Given the description of an element on the screen output the (x, y) to click on. 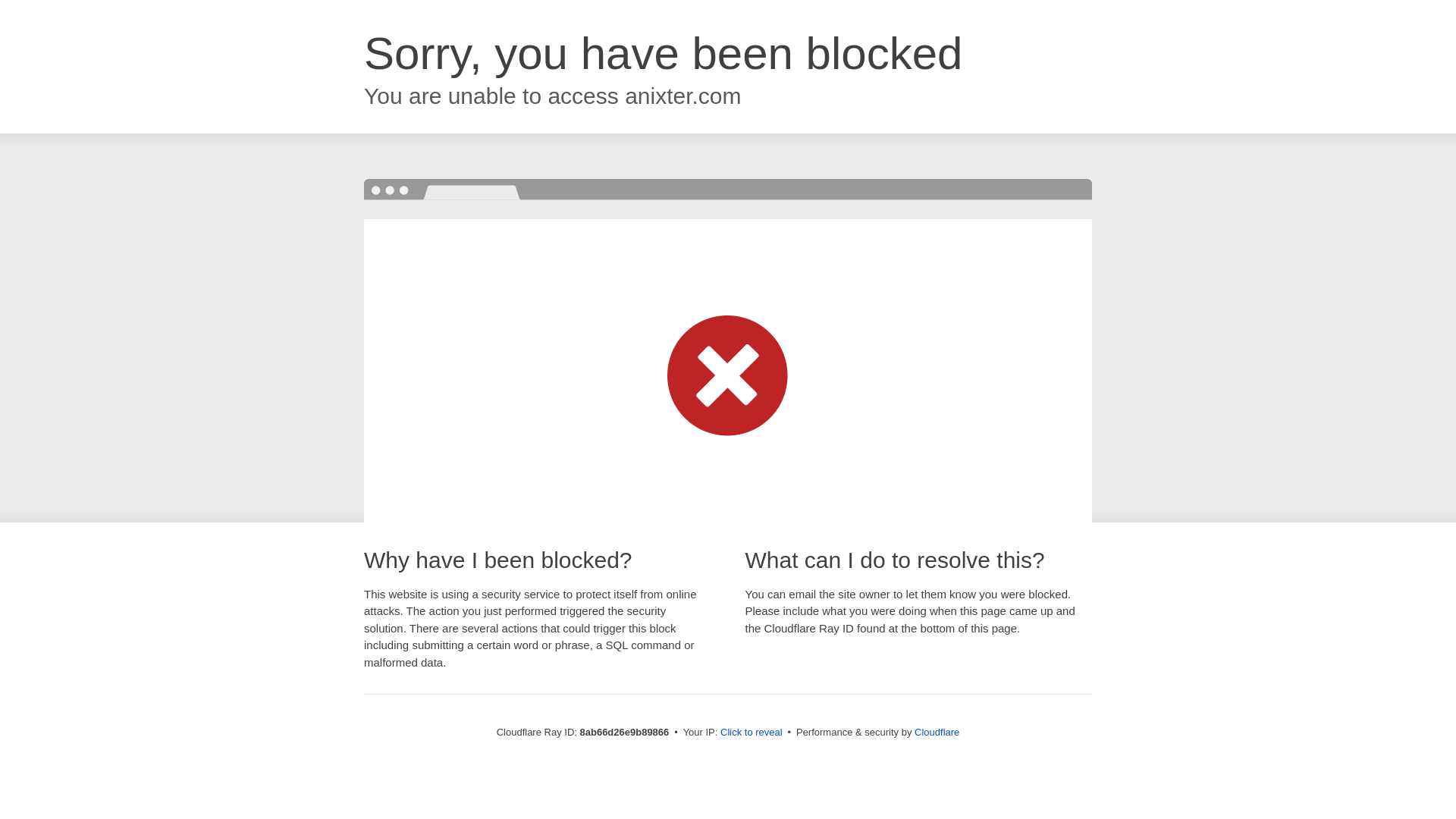
Cloudflare (936, 731)
Click to reveal (751, 732)
